Given the description of an element on the screen output the (x, y) to click on. 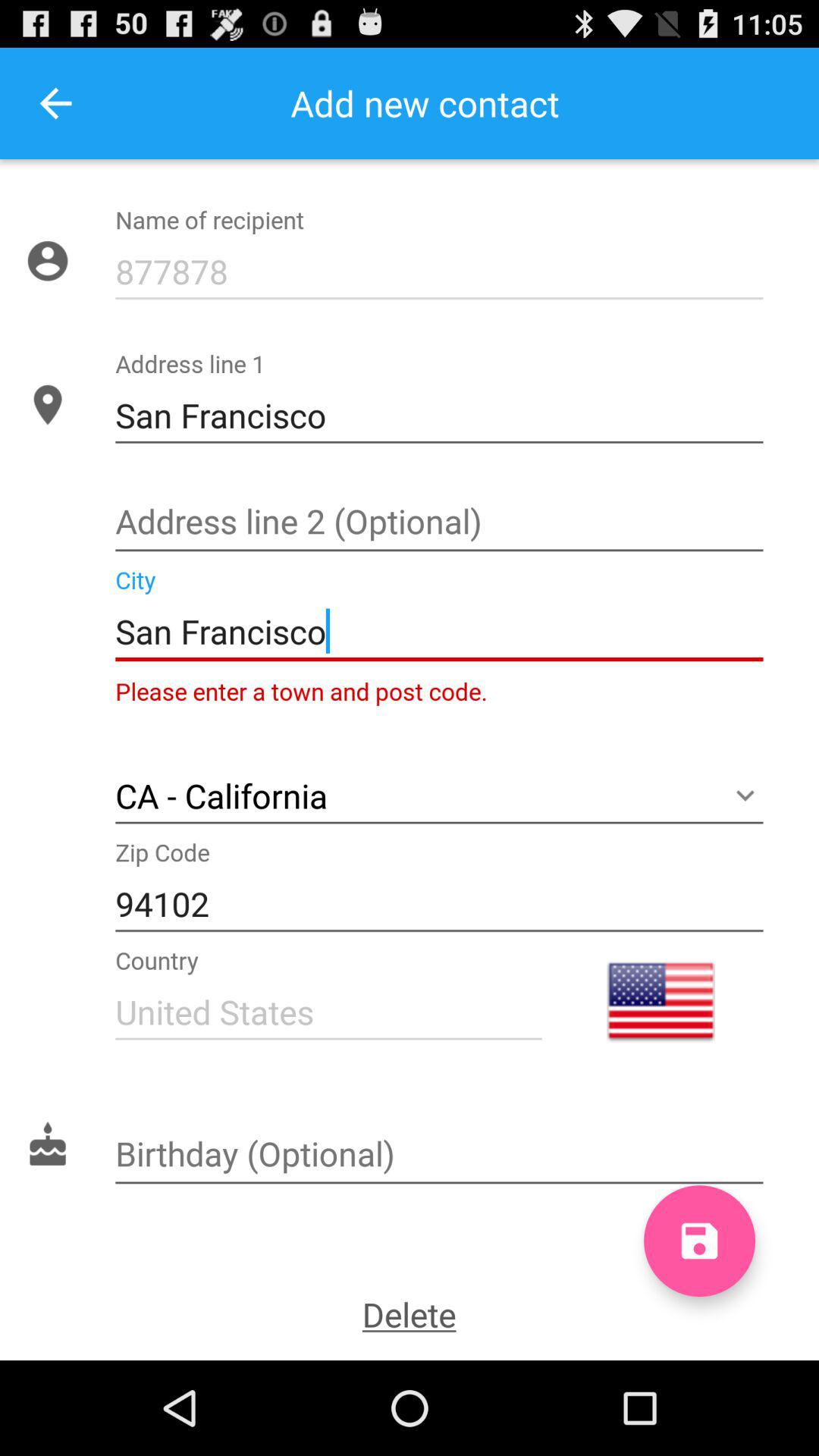
birthday textarea (439, 1156)
